Given the description of an element on the screen output the (x, y) to click on. 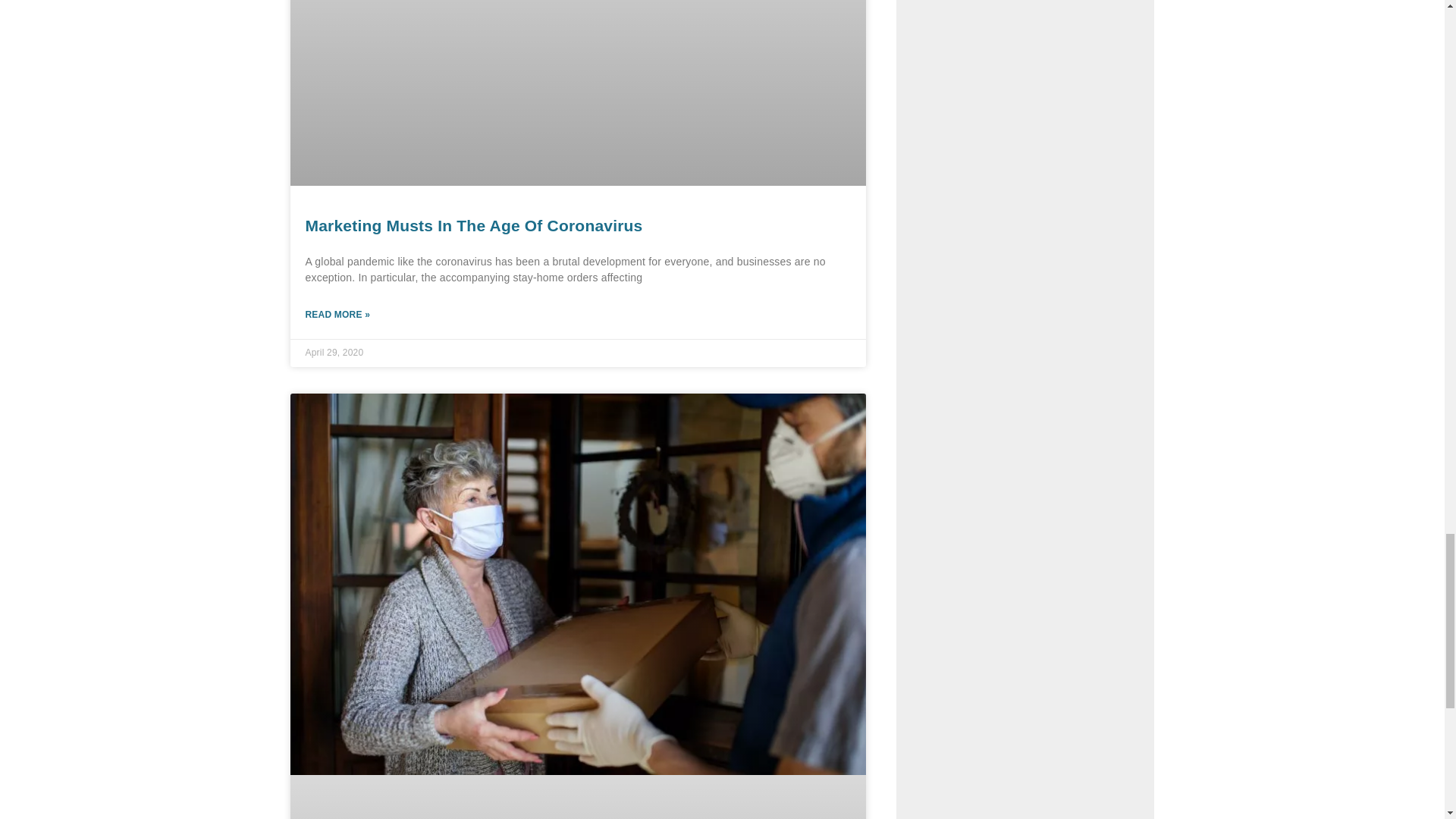
Marketing Musts In The Age Of Coronavirus (473, 225)
